Given the description of an element on the screen output the (x, y) to click on. 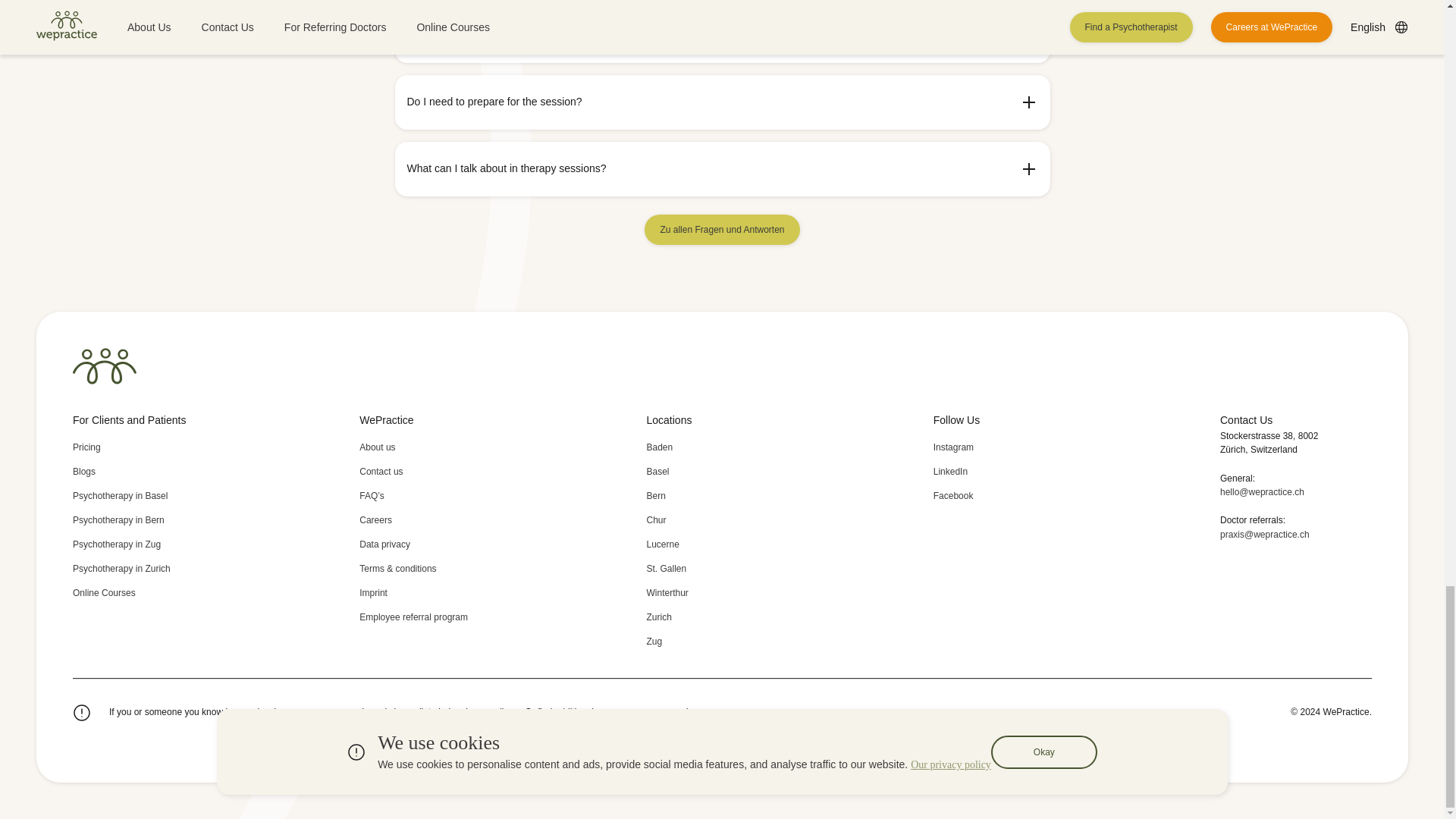
Psychotherapy in Basel (148, 495)
Psychotherapy in Bern (148, 520)
Psychotherapy in Bern (148, 520)
Psychotherapy in Zug (148, 544)
Zu allen Fragen und Antworten (722, 229)
Psychotherapy in Zurich (148, 568)
Psychotherapy in Zug (148, 544)
About us (435, 447)
Cost Coverage (148, 447)
Pricing (148, 447)
Online Courses (148, 592)
Privacy Notice (435, 544)
Psychotherapy in Zurich (148, 568)
Blogs (148, 471)
Psychotherapy in Basel (148, 495)
